Given the description of an element on the screen output the (x, y) to click on. 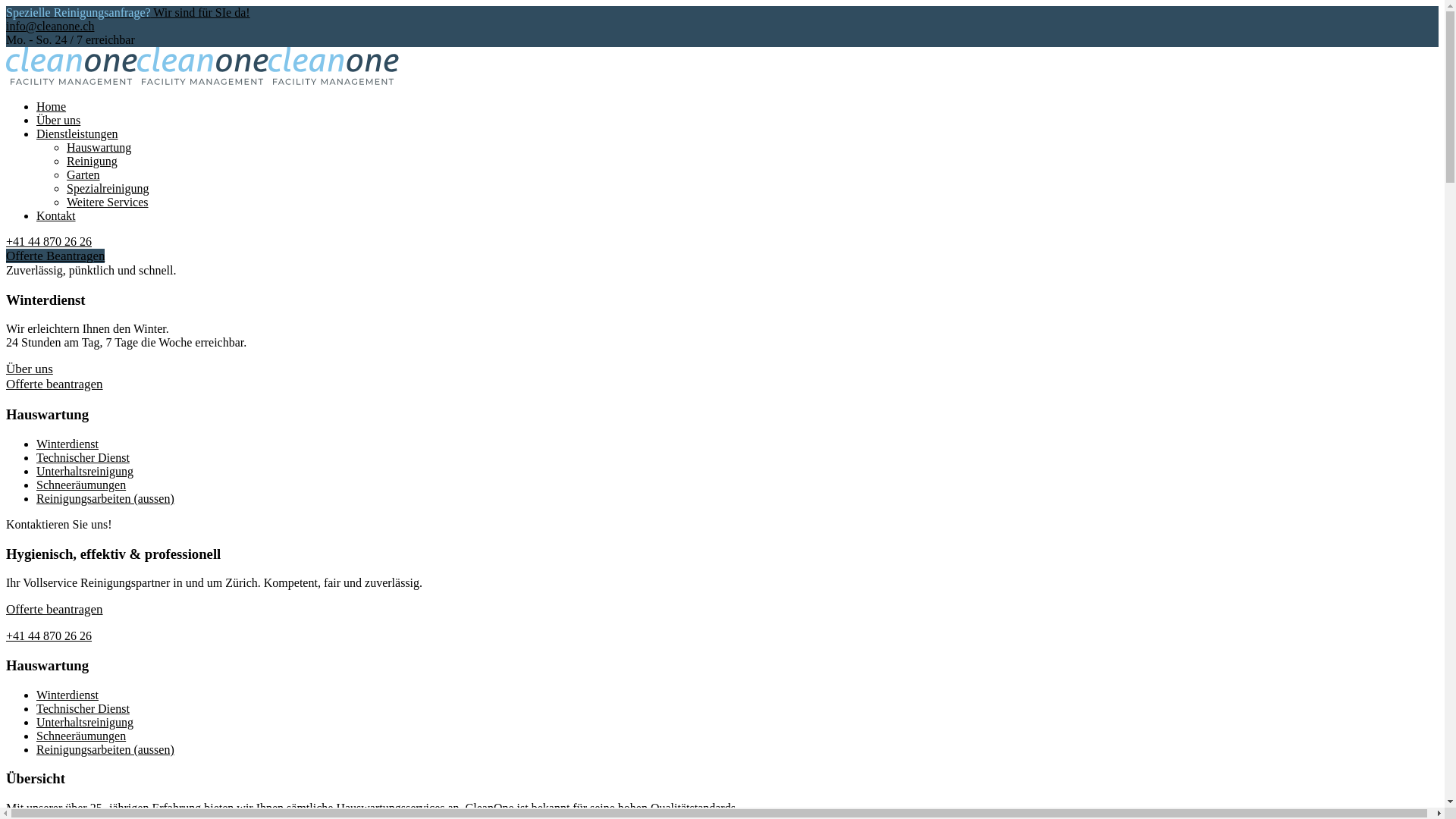
Dienstleistungen Element type: text (77, 133)
Cleanone Element type: hover (333, 80)
Technischer Dienst Element type: text (82, 457)
Cleanone Element type: hover (202, 80)
+41 44 870 26 26 Element type: text (48, 635)
Reinigung Element type: text (91, 160)
Offerte Beantragen Element type: text (55, 255)
Winterdienst Element type: text (67, 694)
Reinigungsarbeiten (aussen) Element type: text (105, 749)
Weitere Services Element type: text (107, 201)
Unterhaltsreinigung Element type: text (84, 470)
Offerte beantragen Element type: text (54, 383)
Hauswartung Element type: text (98, 147)
Winterdienst Element type: text (67, 443)
Cleanone Element type: hover (71, 80)
Spezialreinigung Element type: text (107, 188)
+41 44 870 26 26 Element type: text (48, 241)
Home Element type: text (50, 106)
Technischer Dienst Element type: text (82, 708)
info@cleanone.ch Element type: text (50, 25)
Reinigungsarbeiten (aussen) Element type: text (105, 498)
Offerte beantragen Element type: text (54, 609)
Garten Element type: text (83, 174)
Kontakt Element type: text (55, 215)
Unterhaltsreinigung Element type: text (84, 721)
